Given the description of an element on the screen output the (x, y) to click on. 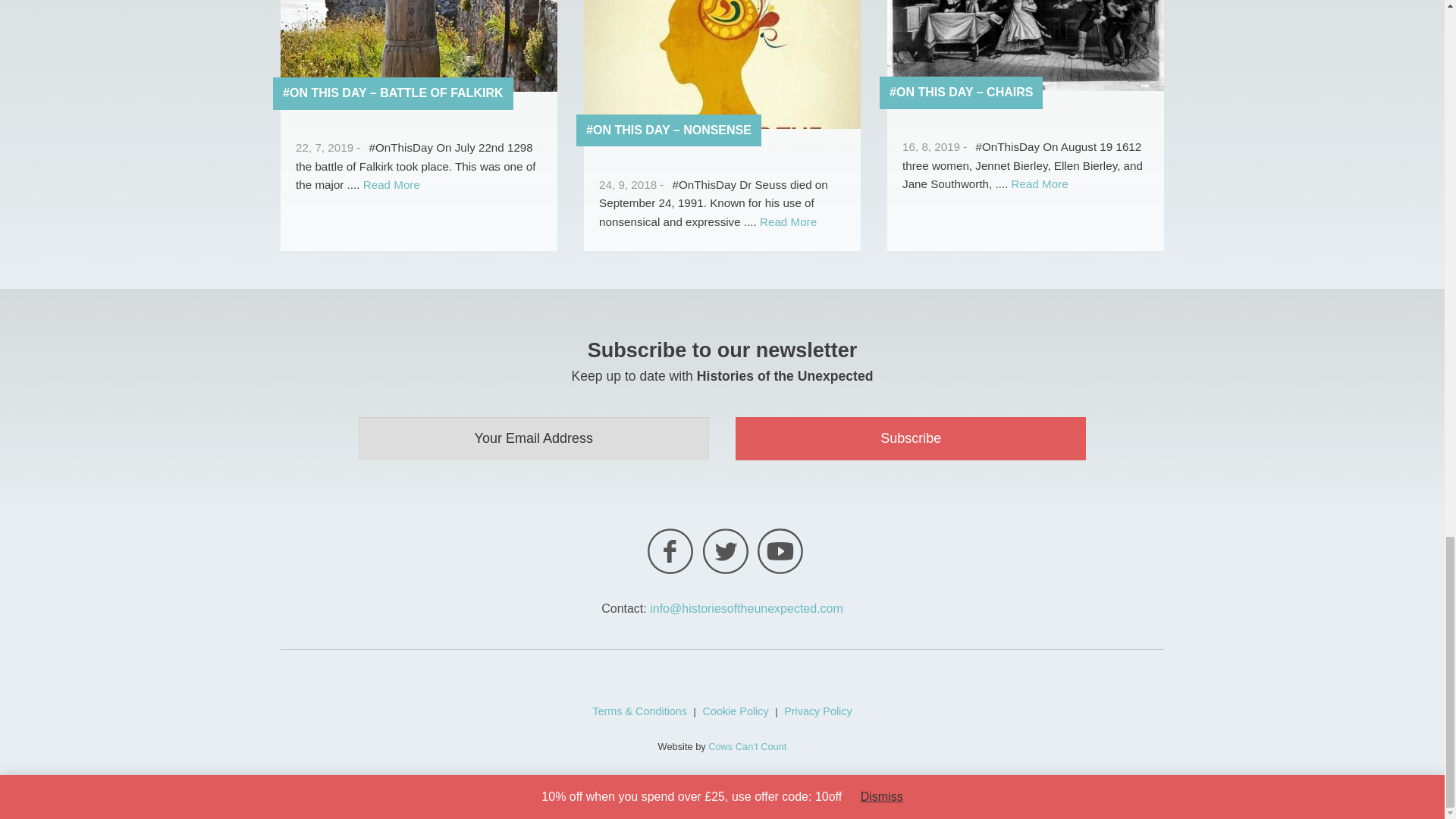
Subscribe (910, 438)
Read More (391, 184)
